Given the description of an element on the screen output the (x, y) to click on. 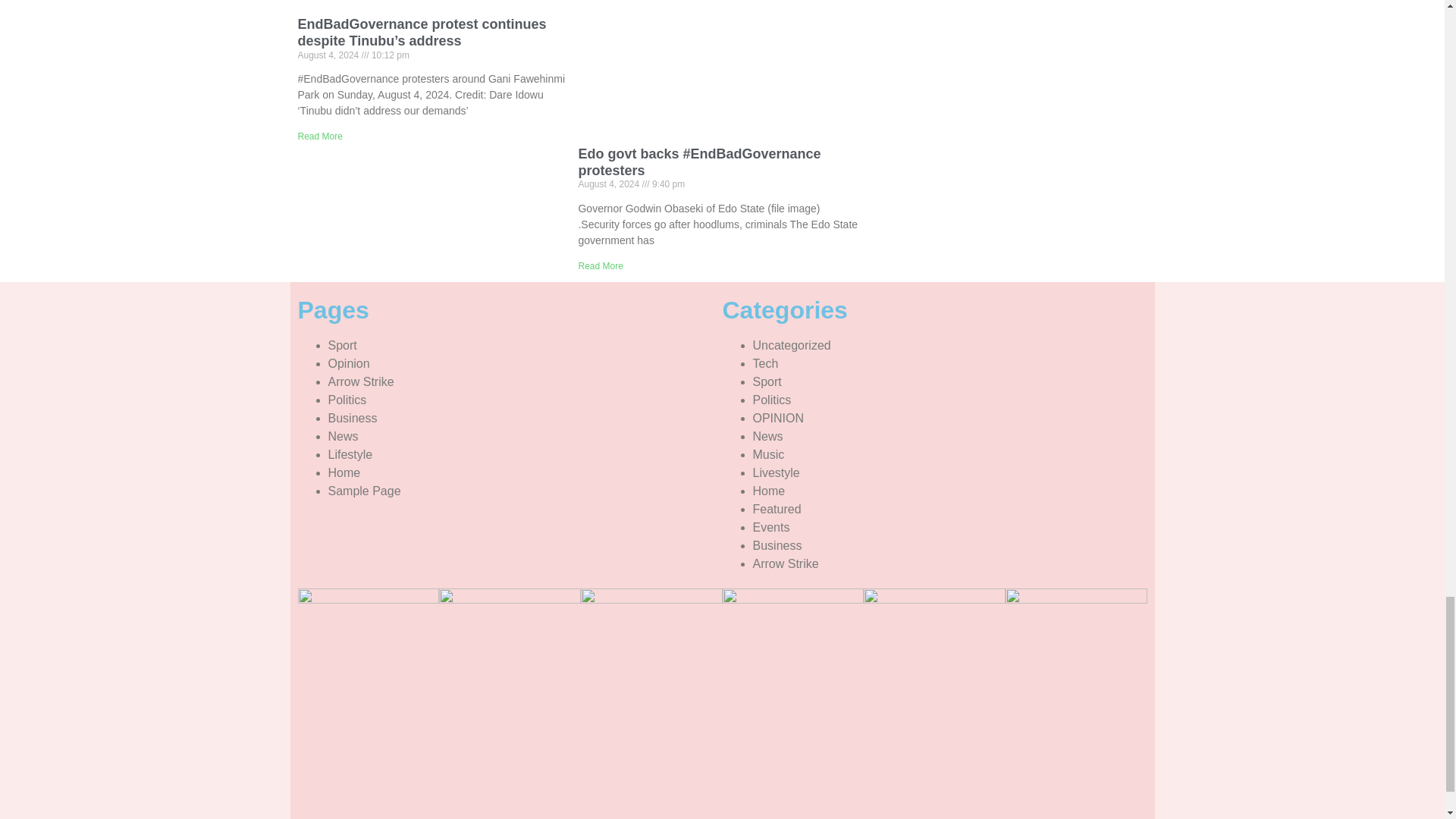
Read More (319, 136)
Read More (600, 266)
